Given the description of an element on the screen output the (x, y) to click on. 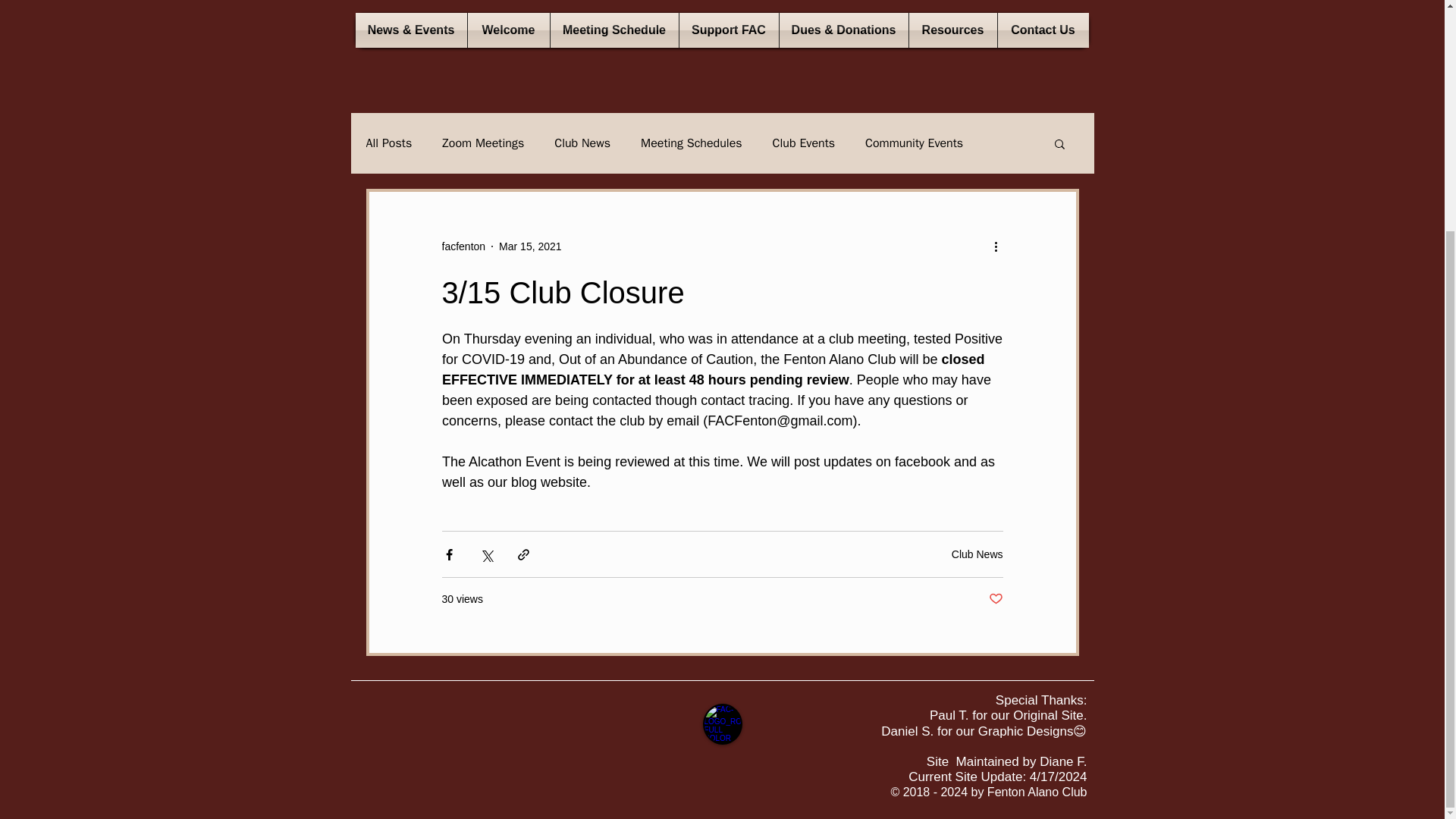
Meeting Schedules (691, 143)
Zoom Meetings (483, 143)
facfenton (462, 246)
Club News (582, 143)
Club News (977, 553)
Return to Home page (721, 723)
All Posts (388, 143)
Club Events (803, 143)
Community Events (913, 143)
Mar 15, 2021 (530, 246)
